Given the description of an element on the screen output the (x, y) to click on. 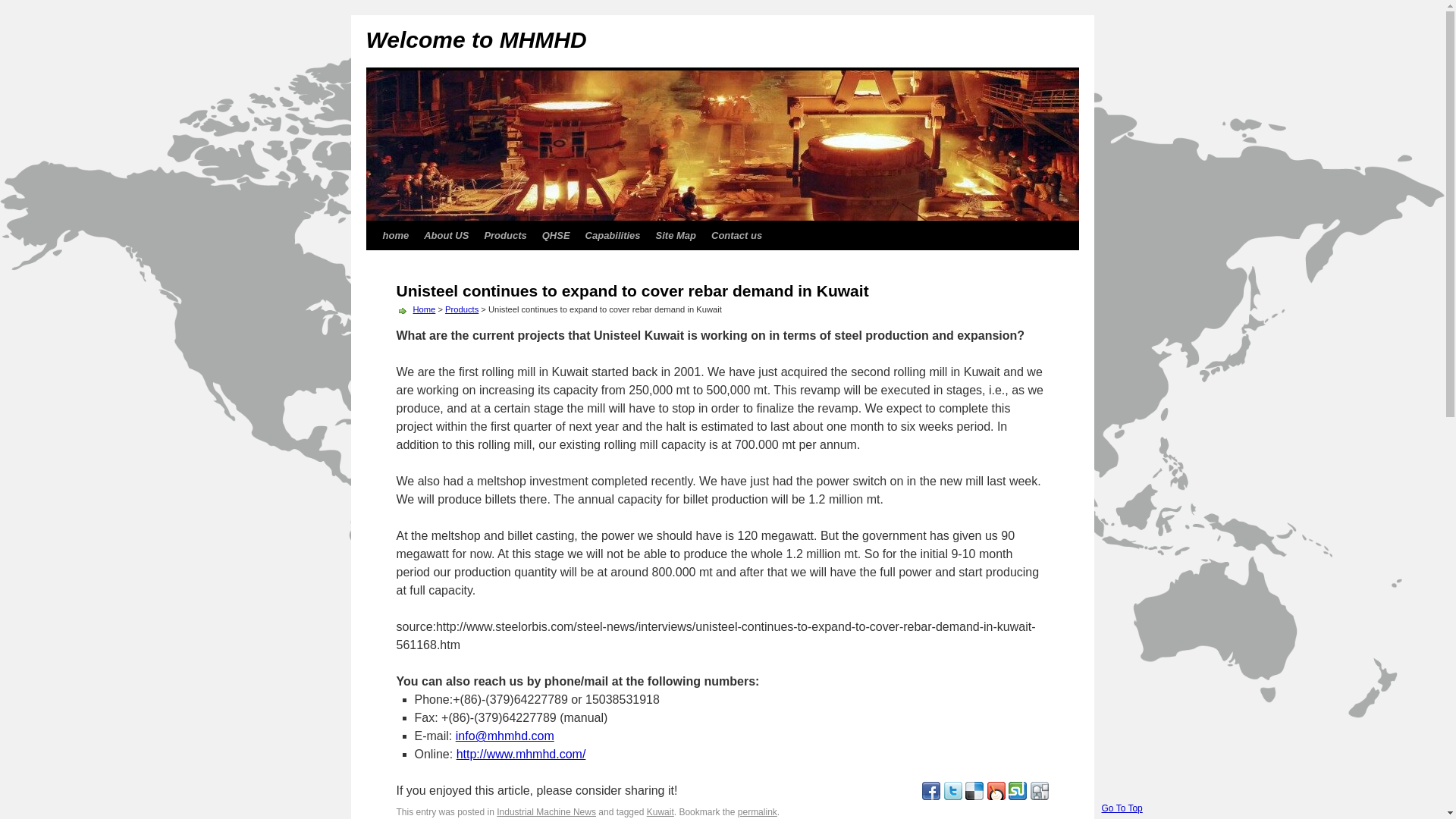
Welcome to MHMHD (475, 39)
Share on Delicious (974, 795)
Welcome to MHMHD (475, 39)
Share on Digg (1038, 795)
Contact us (736, 235)
Capabilities (612, 235)
Go to homepage (423, 308)
Share on Twitter (952, 795)
Products (462, 308)
Share on StumbleUpon (1017, 795)
Go to the Products List (462, 308)
Site Map (675, 235)
Kuwait (660, 811)
Industrial Machine News (545, 811)
Products (505, 235)
